Given the description of an element on the screen output the (x, y) to click on. 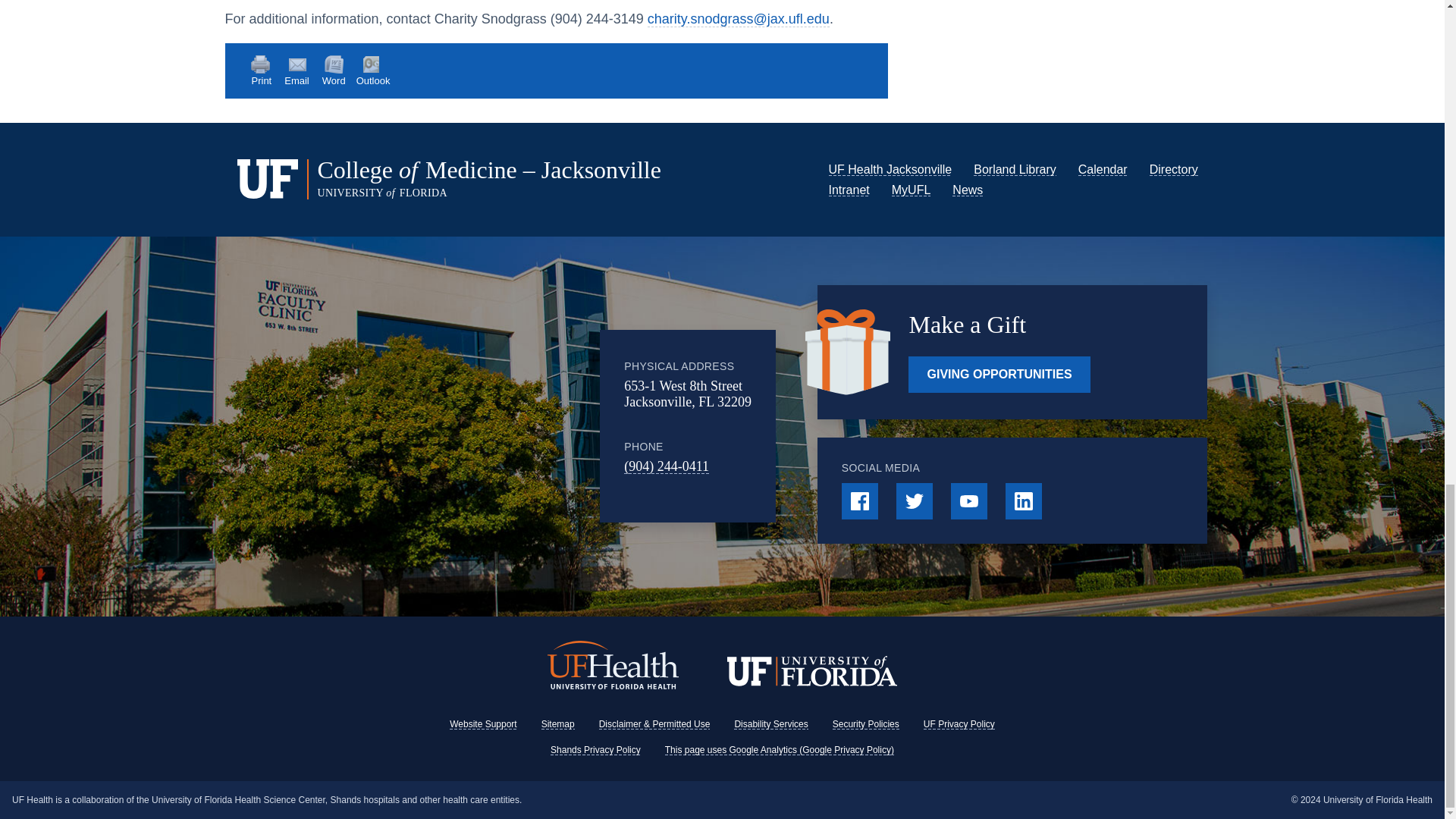
Security Policies (865, 724)
Sitemap (558, 724)
Calendar (1102, 169)
Website Support (482, 724)
University of Florida Health Jacksonville (890, 169)
Intranet (848, 189)
MyUFL (911, 189)
News (967, 189)
Shands Privacy Policy (595, 749)
UF Privacy Policy (958, 724)
Directory (1174, 169)
Borland Health Science Library (1015, 169)
Disability Services (770, 724)
